Given the description of an element on the screen output the (x, y) to click on. 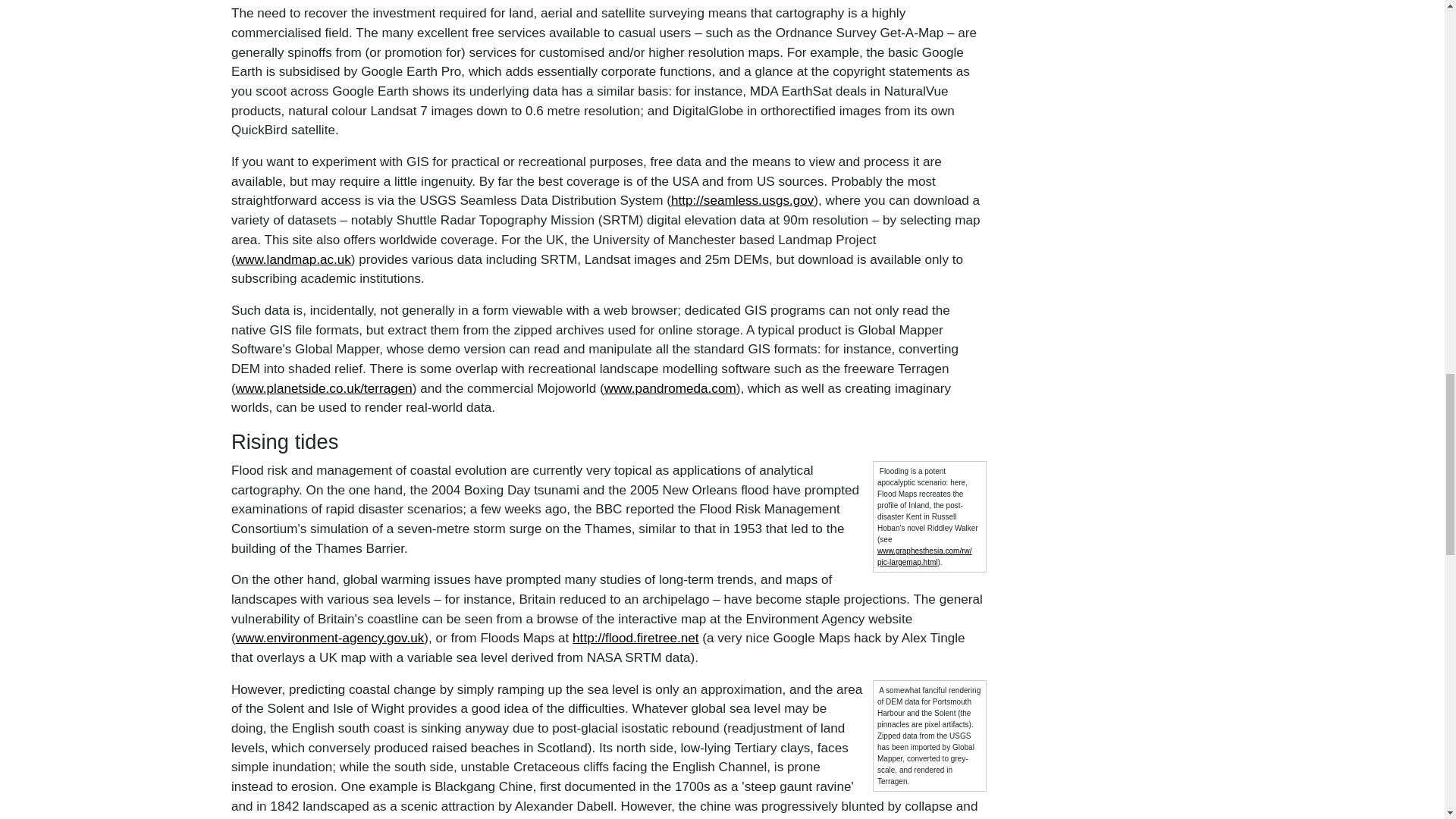
www.landmap.ac.uk (292, 258)
www.pandromeda.com (669, 387)
www.environment-agency.gov.uk (328, 637)
